Given the description of an element on the screen output the (x, y) to click on. 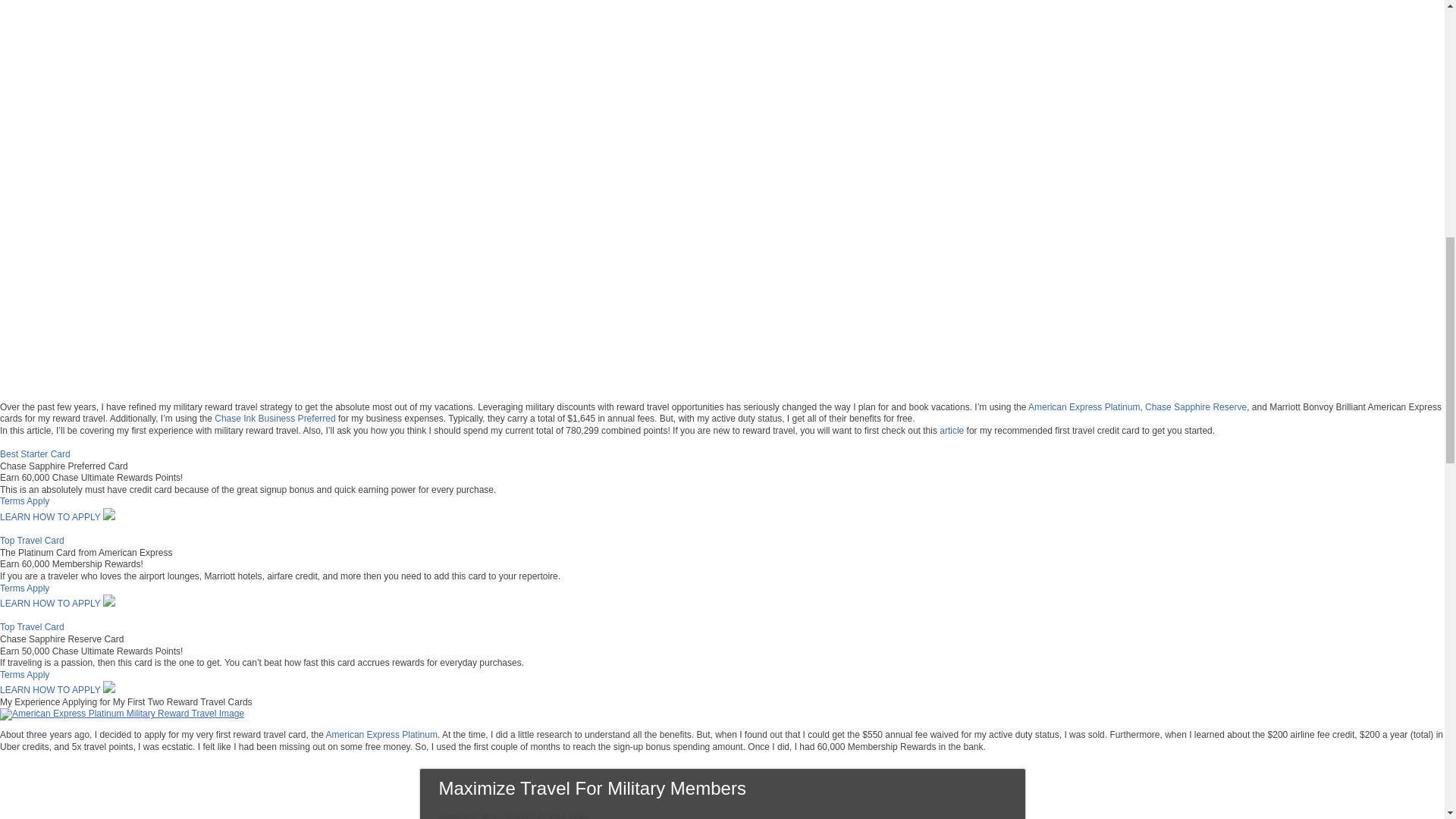
Terms Apply (24, 501)
American Express Platinum (1083, 407)
LEARN HOW TO APPLY (57, 516)
Top Travel Card (32, 540)
Chase Sapphire Reserve (1195, 407)
Best Starter Card (34, 453)
Chase Ink Business Preferred (274, 418)
article (951, 430)
